Given the description of an element on the screen output the (x, y) to click on. 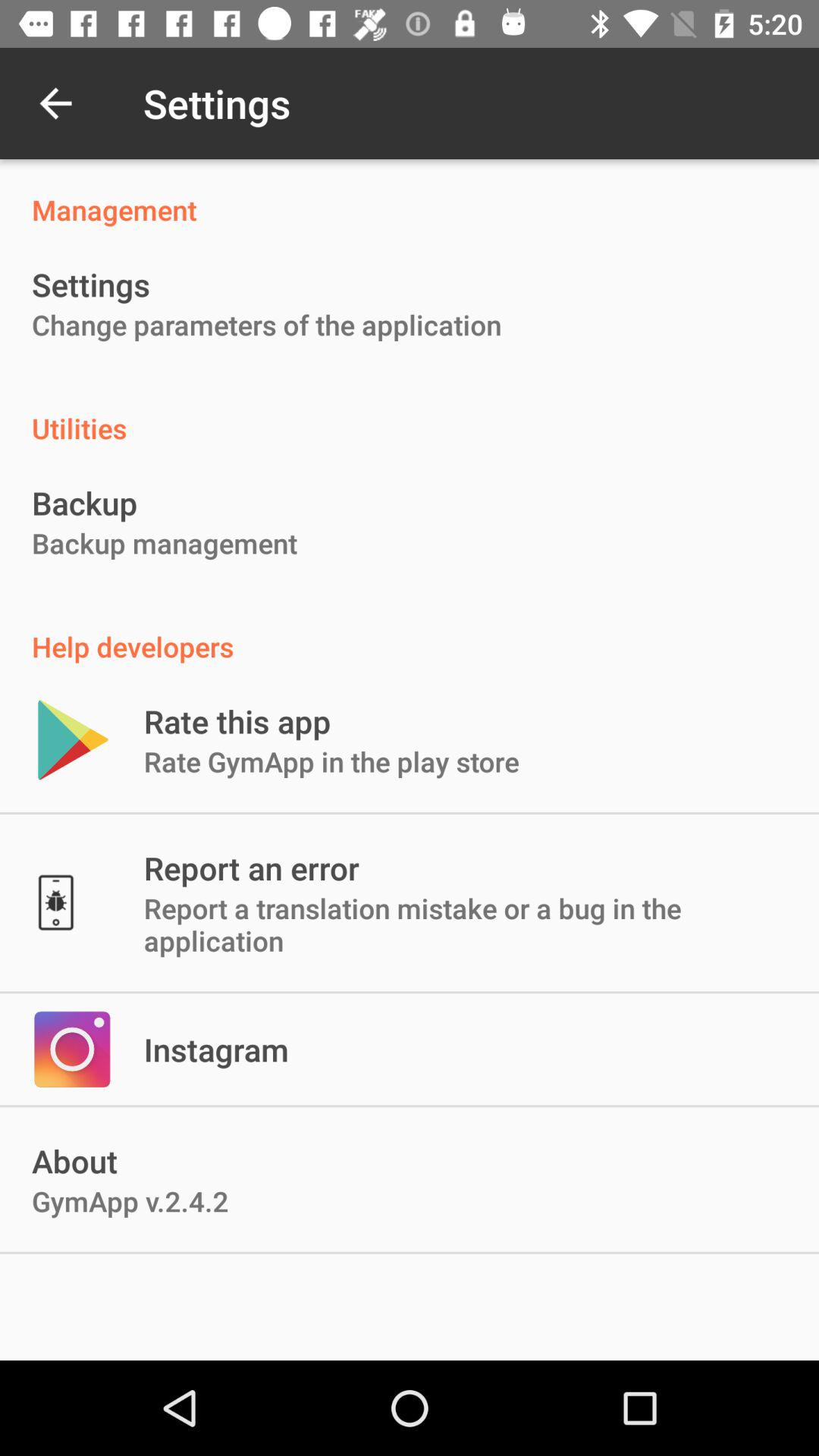
click item below the backup (164, 542)
